Given the description of an element on the screen output the (x, y) to click on. 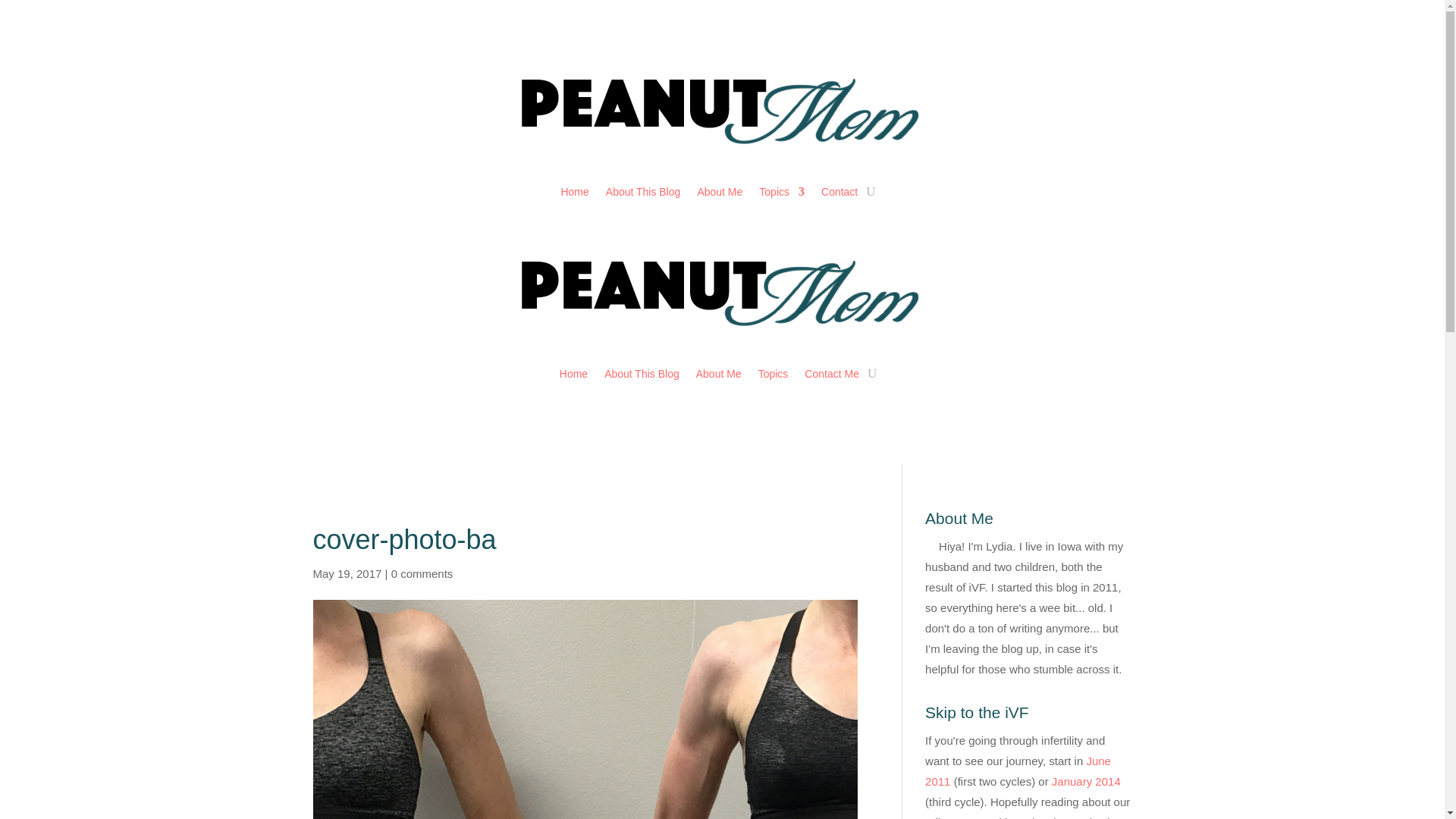
January 2014 (1086, 780)
About This Blog (641, 373)
Contact Me (832, 373)
Why this site exists, in 400 words or less (643, 191)
June 2011 (1017, 770)
About This Blog (643, 191)
0 comments (421, 573)
